Given the description of an element on the screen output the (x, y) to click on. 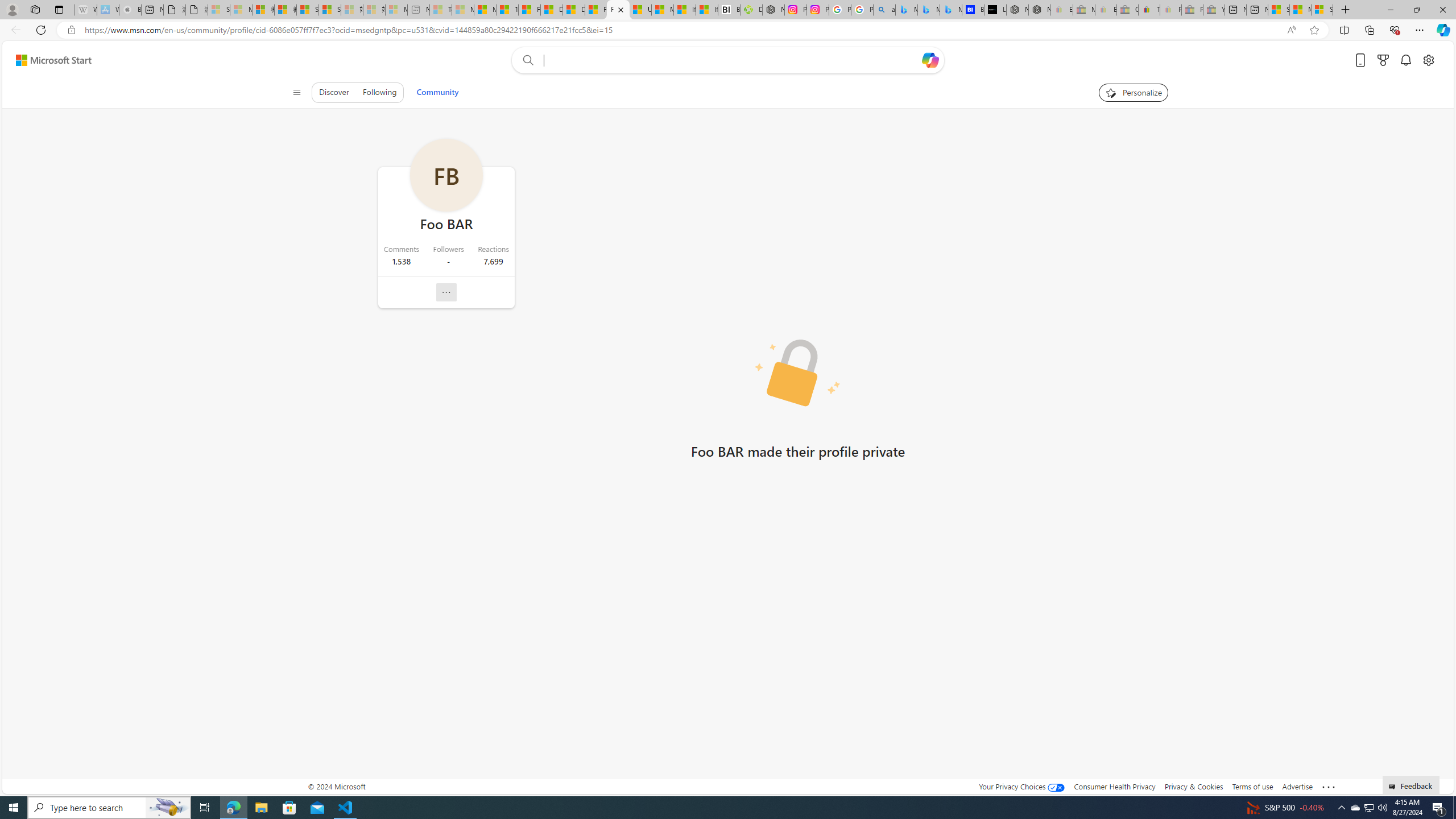
Report profile (446, 292)
US Heat Deaths Soared To Record High Last Year (640, 9)
Sign in to your Microsoft account - Sleeping (218, 9)
Payments Terms of Use | eBay.com - Sleeping (1170, 9)
Personalize your feed" (1132, 92)
Enter your search term (730, 59)
Class: oneFooter_seeMore-DS-EntryPoint1-1 (1328, 786)
alabama high school quarterback dies - Search (883, 9)
